Given the description of an element on the screen output the (x, y) to click on. 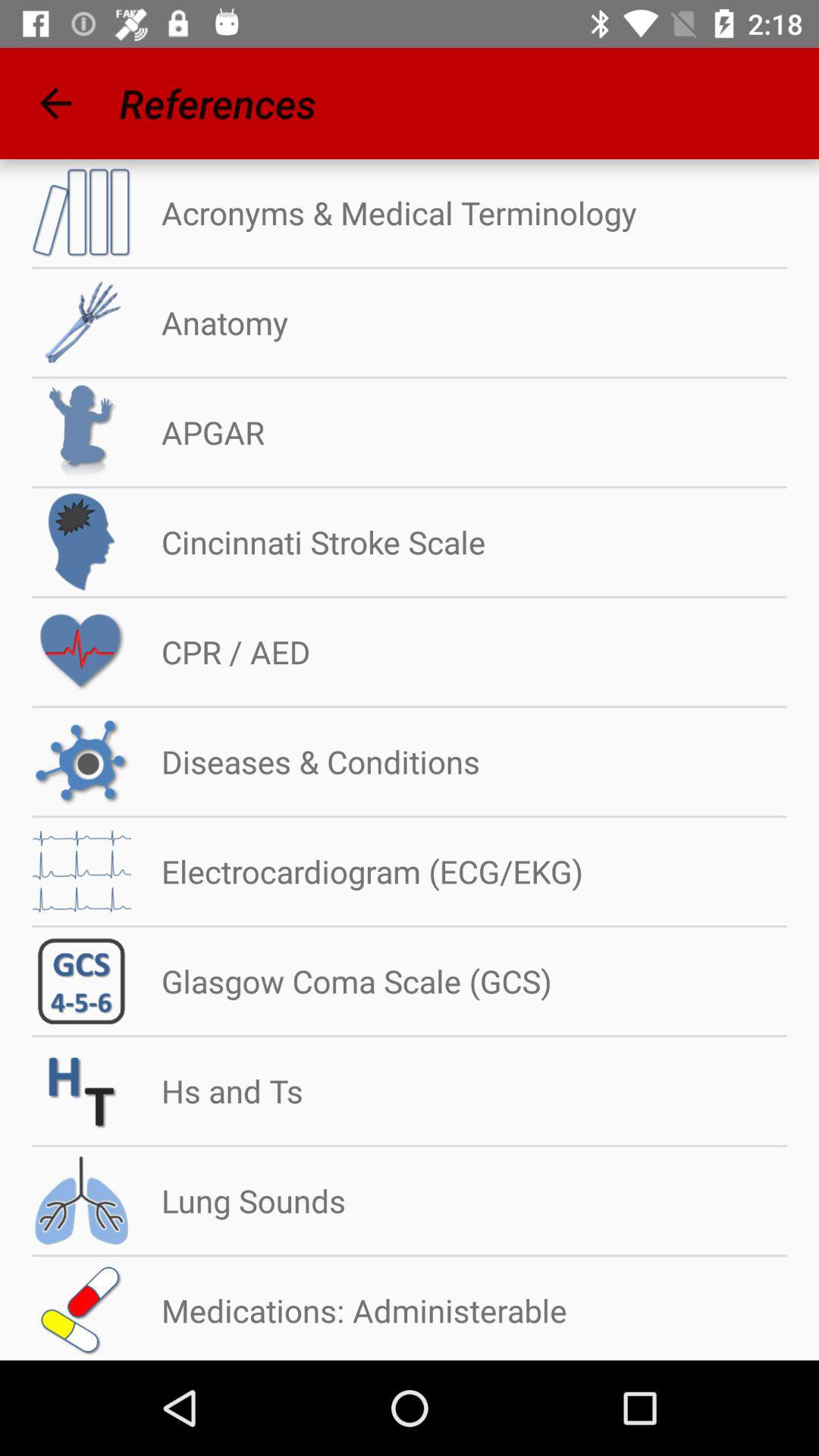
choose the diseases & conditions icon (305, 761)
